Given the description of an element on the screen output the (x, y) to click on. 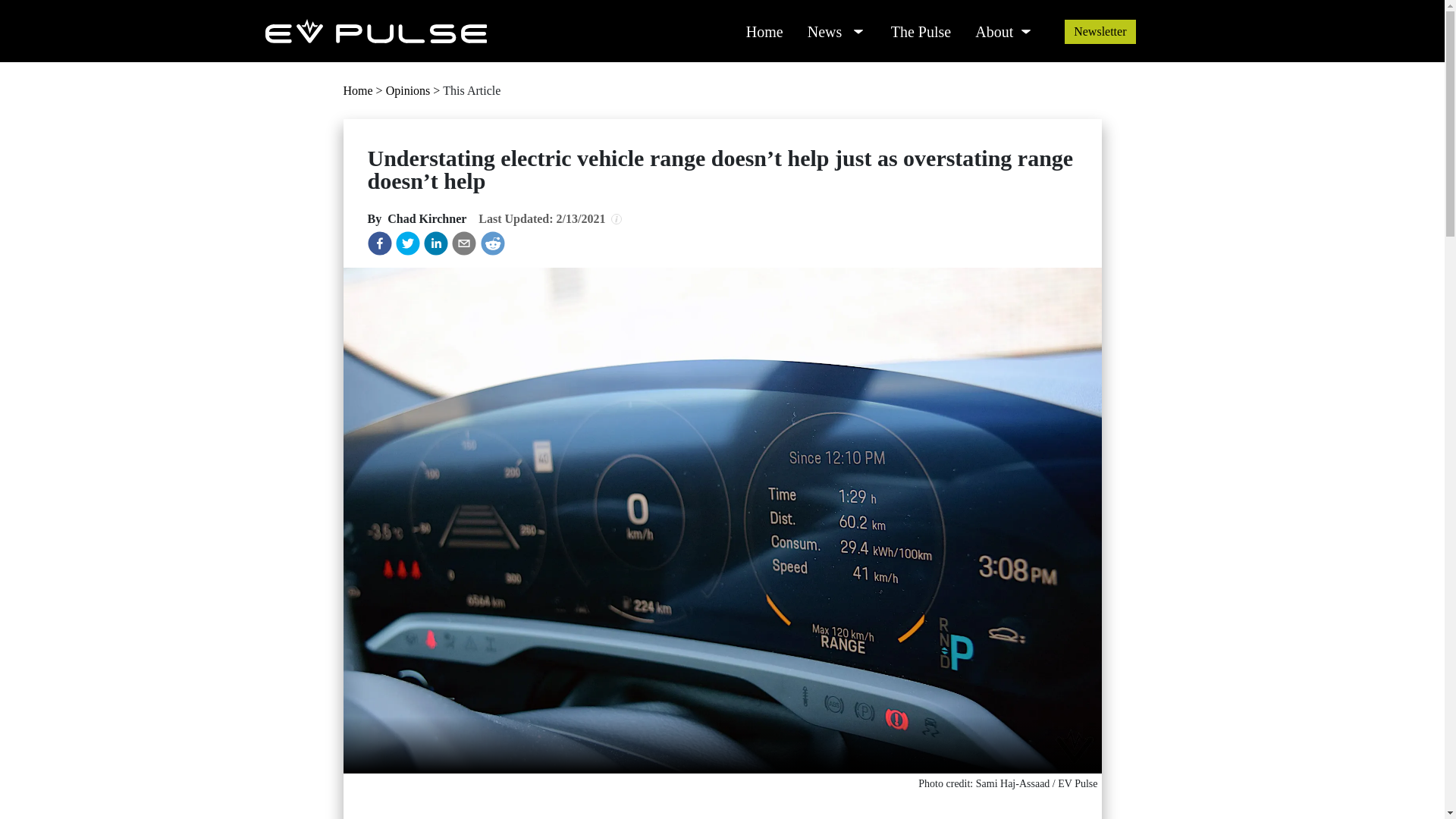
The Pulse (920, 27)
Newsletter (1099, 31)
News (820, 27)
Newsletter (1099, 31)
Home (763, 27)
About (988, 27)
